Given the description of an element on the screen output the (x, y) to click on. 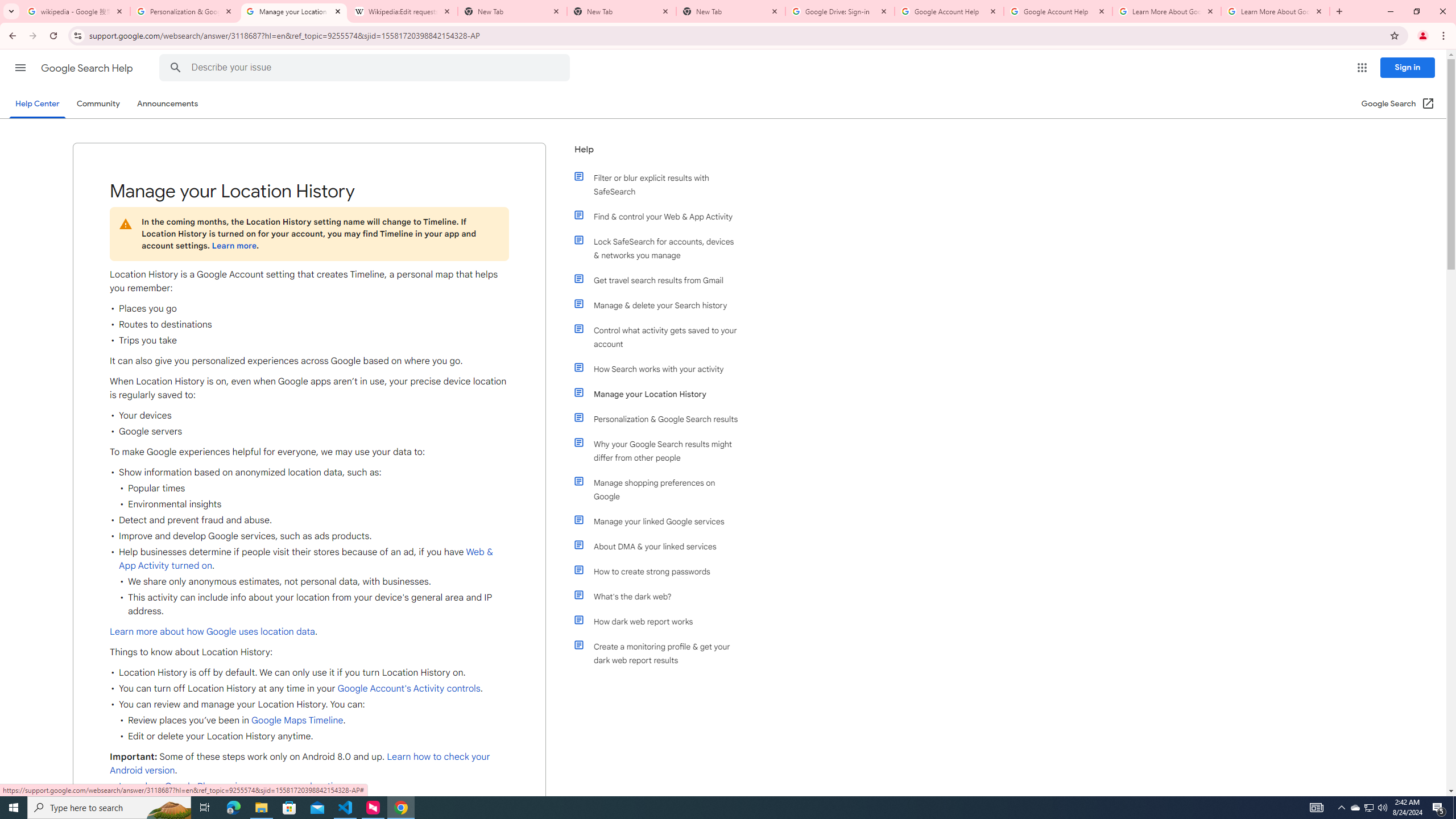
New Tab (621, 11)
Personalization & Google Search results (661, 419)
Personalization & Google Search results - Google Search Help (184, 11)
Get travel search results from Gmail (661, 280)
Control what activity gets saved to your account (661, 336)
